Given the description of an element on the screen output the (x, y) to click on. 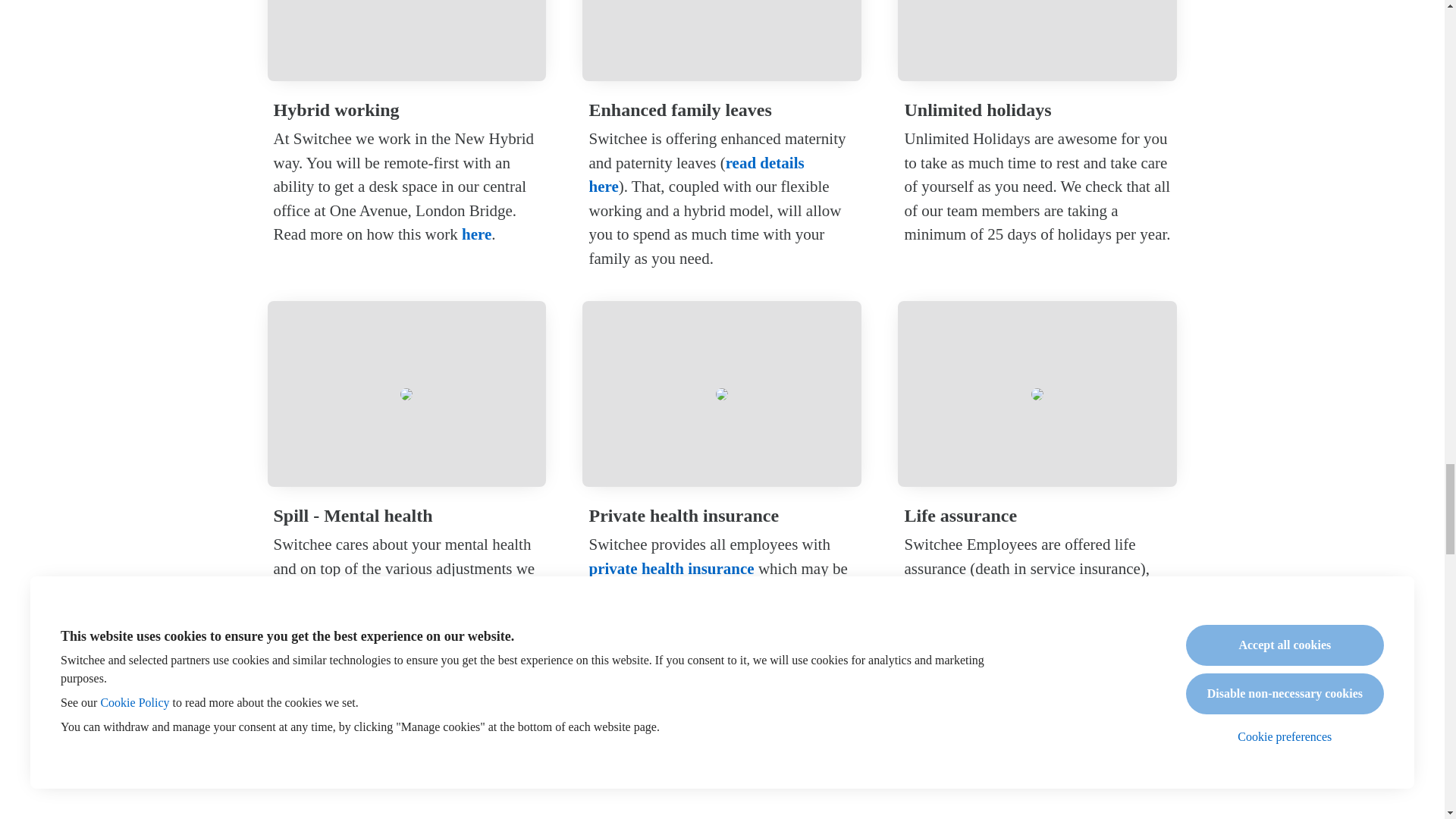
read details here (695, 174)
private health insurance (671, 568)
here (476, 234)
